Given the description of an element on the screen output the (x, y) to click on. 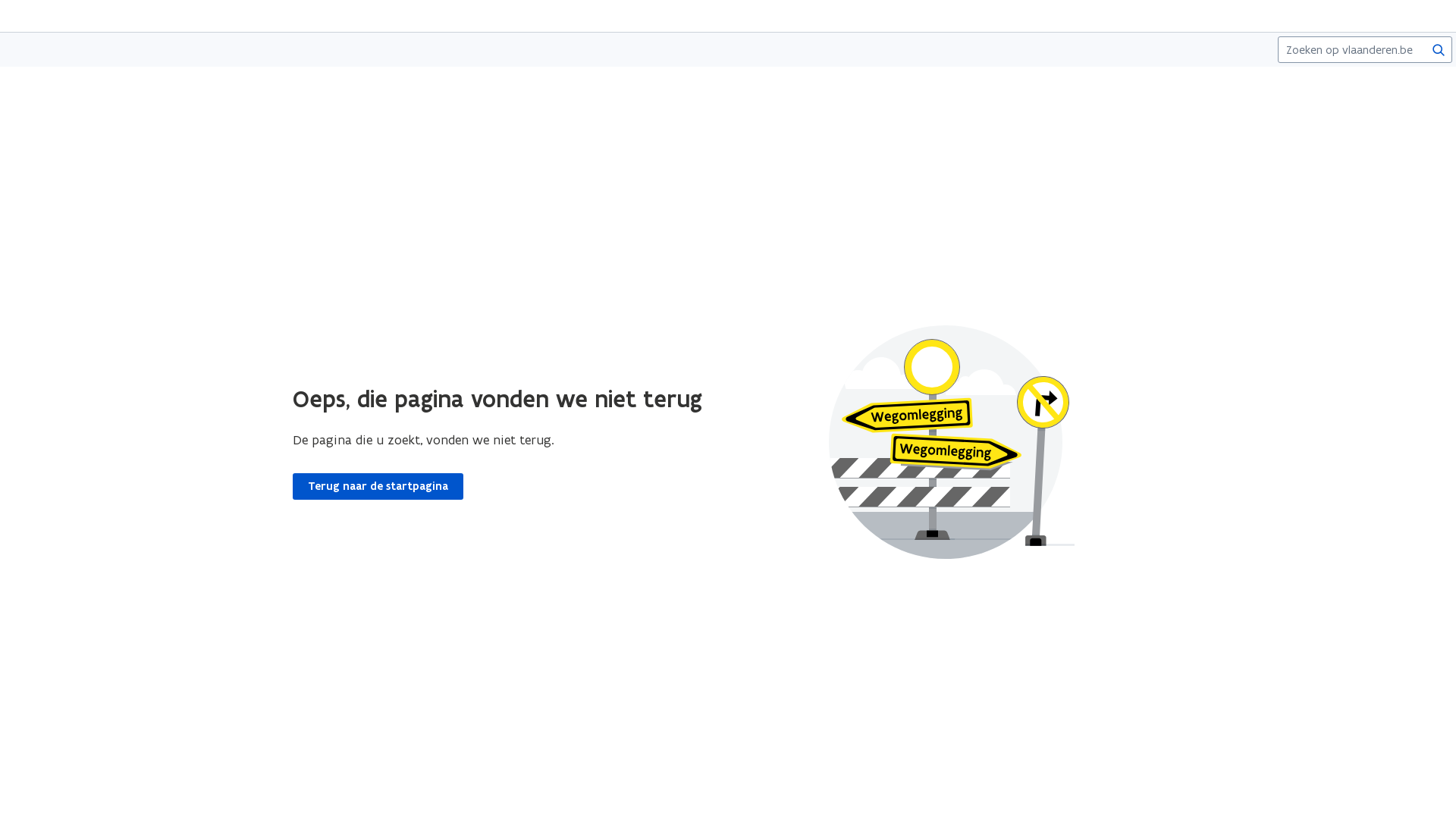
zoeken Element type: text (1438, 49)
Terug naar de startpagina Element type: text (377, 486)
Zoekterm Element type: hover (1364, 49)
Overslaan en naar de inhoud gaan Element type: text (735, 17)
